Given the description of an element on the screen output the (x, y) to click on. 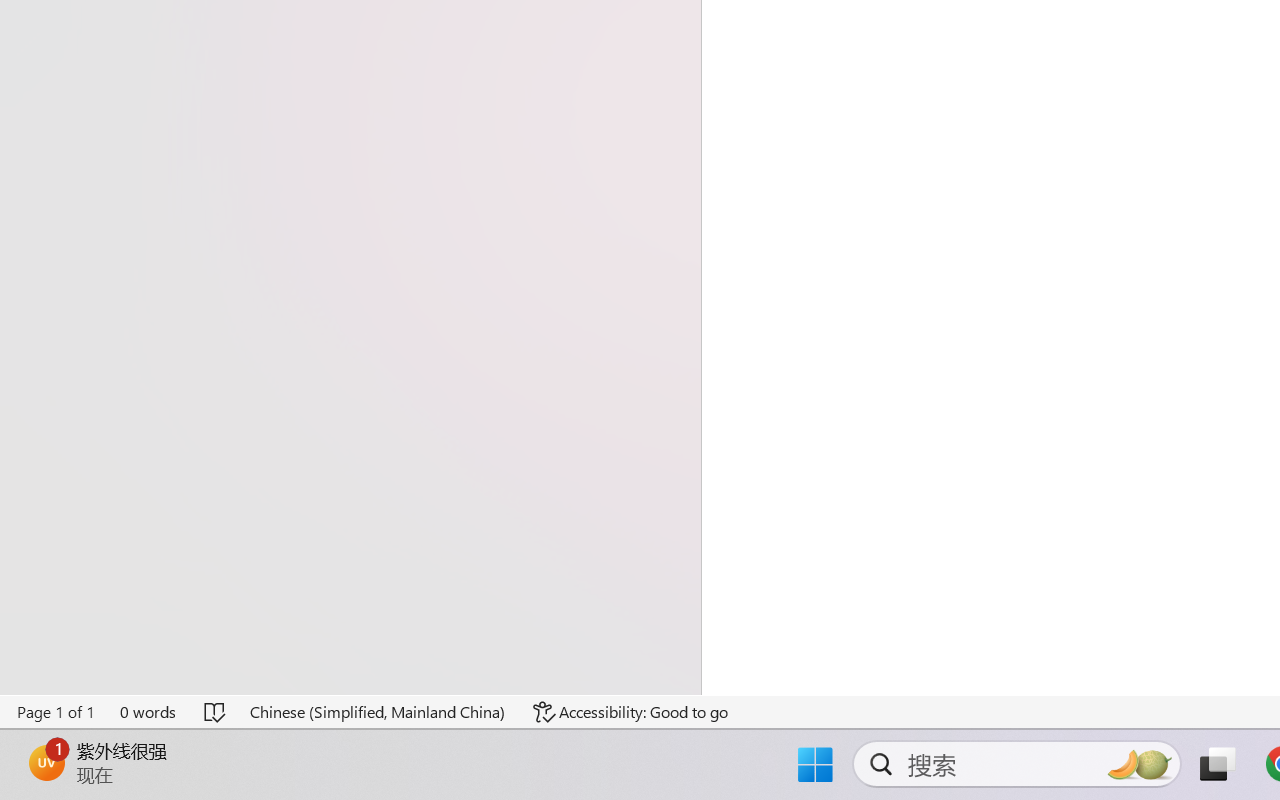
Language Chinese (Simplified, Mainland China) (378, 712)
